Given the description of an element on the screen output the (x, y) to click on. 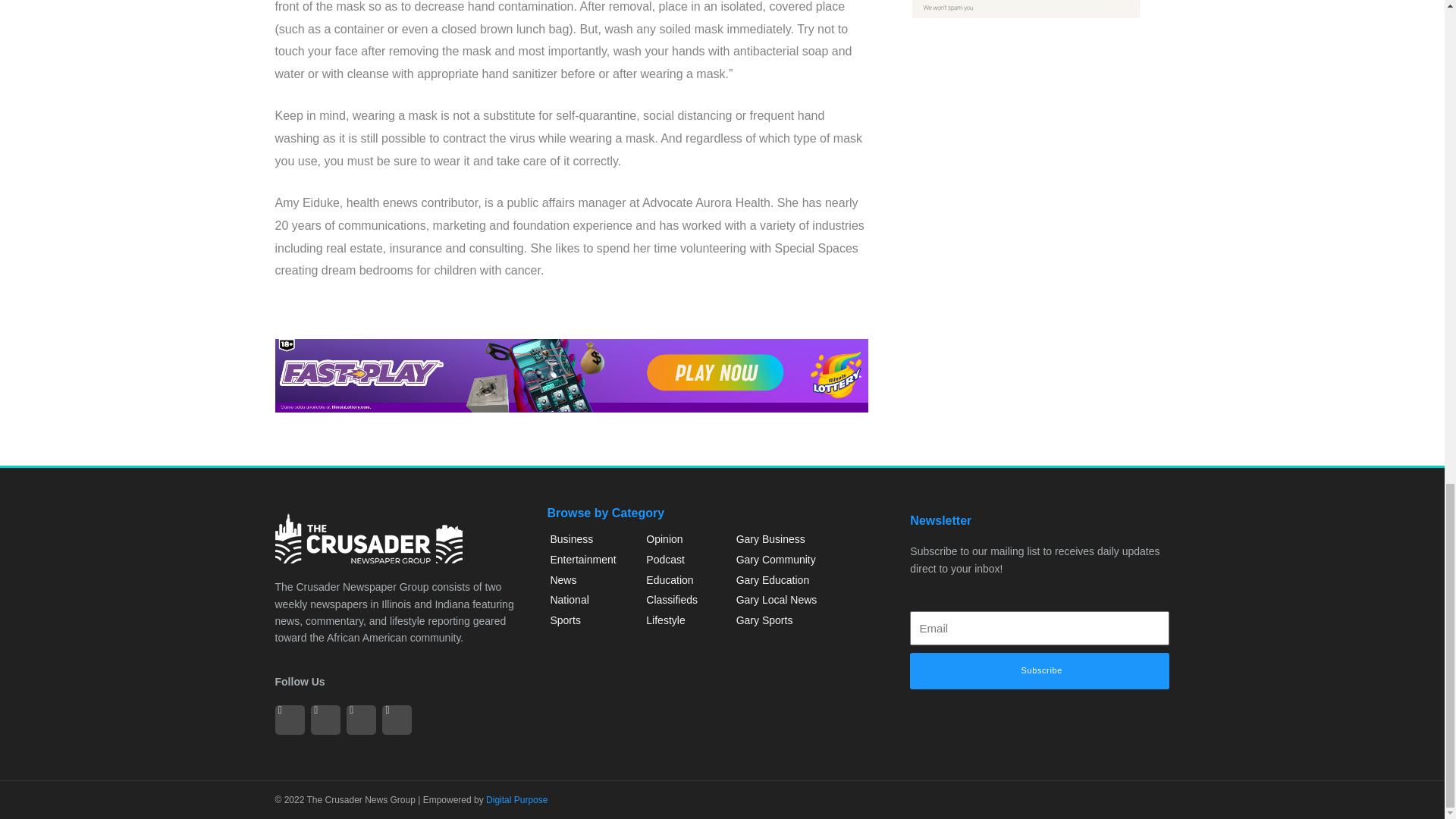
Fast Play-Lottery-Footer-July 2024 (571, 375)
